Given the description of an element on the screen output the (x, y) to click on. 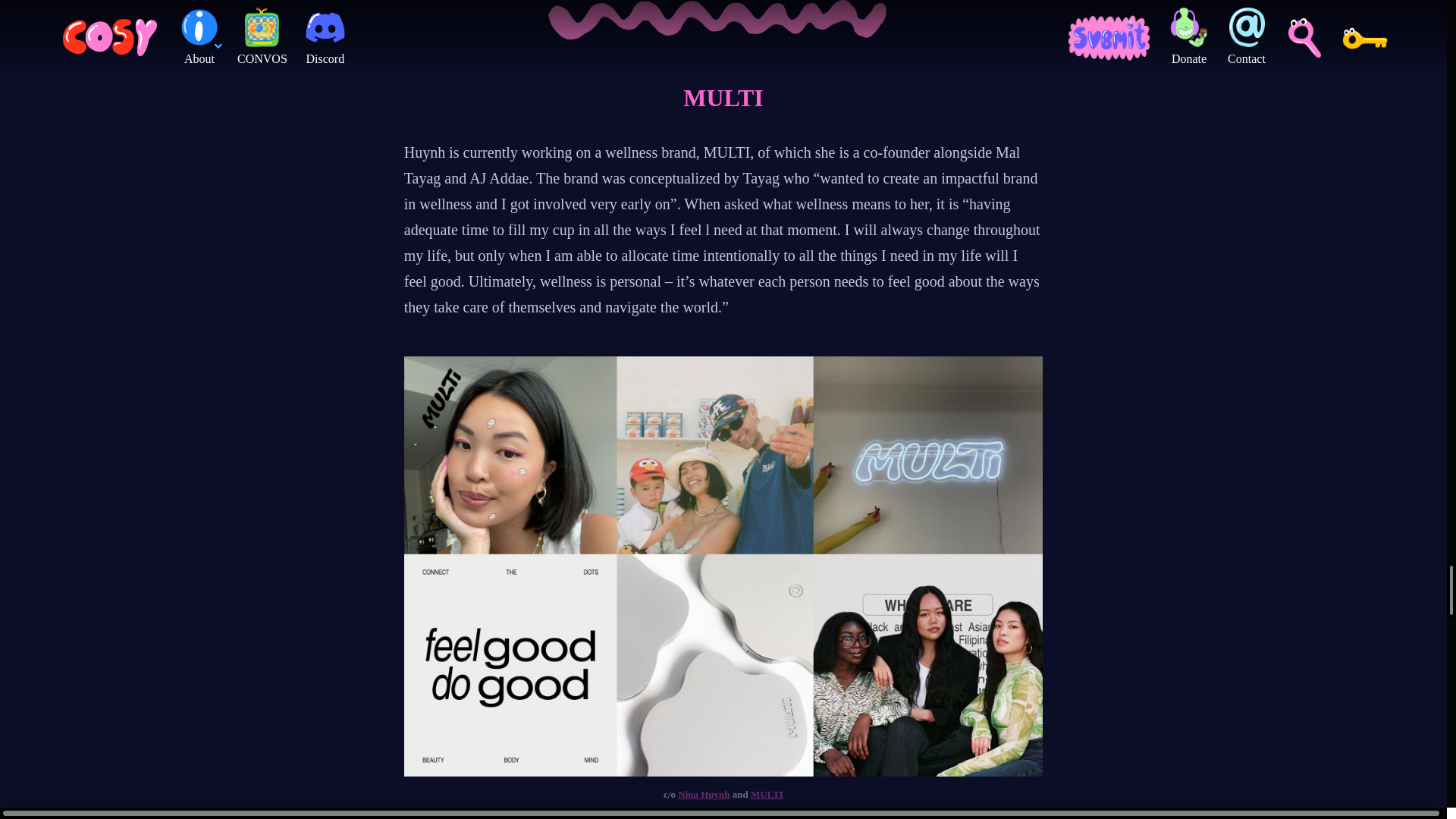
Nina Huynh (703, 794)
MULTI (767, 794)
